Given the description of an element on the screen output the (x, y) to click on. 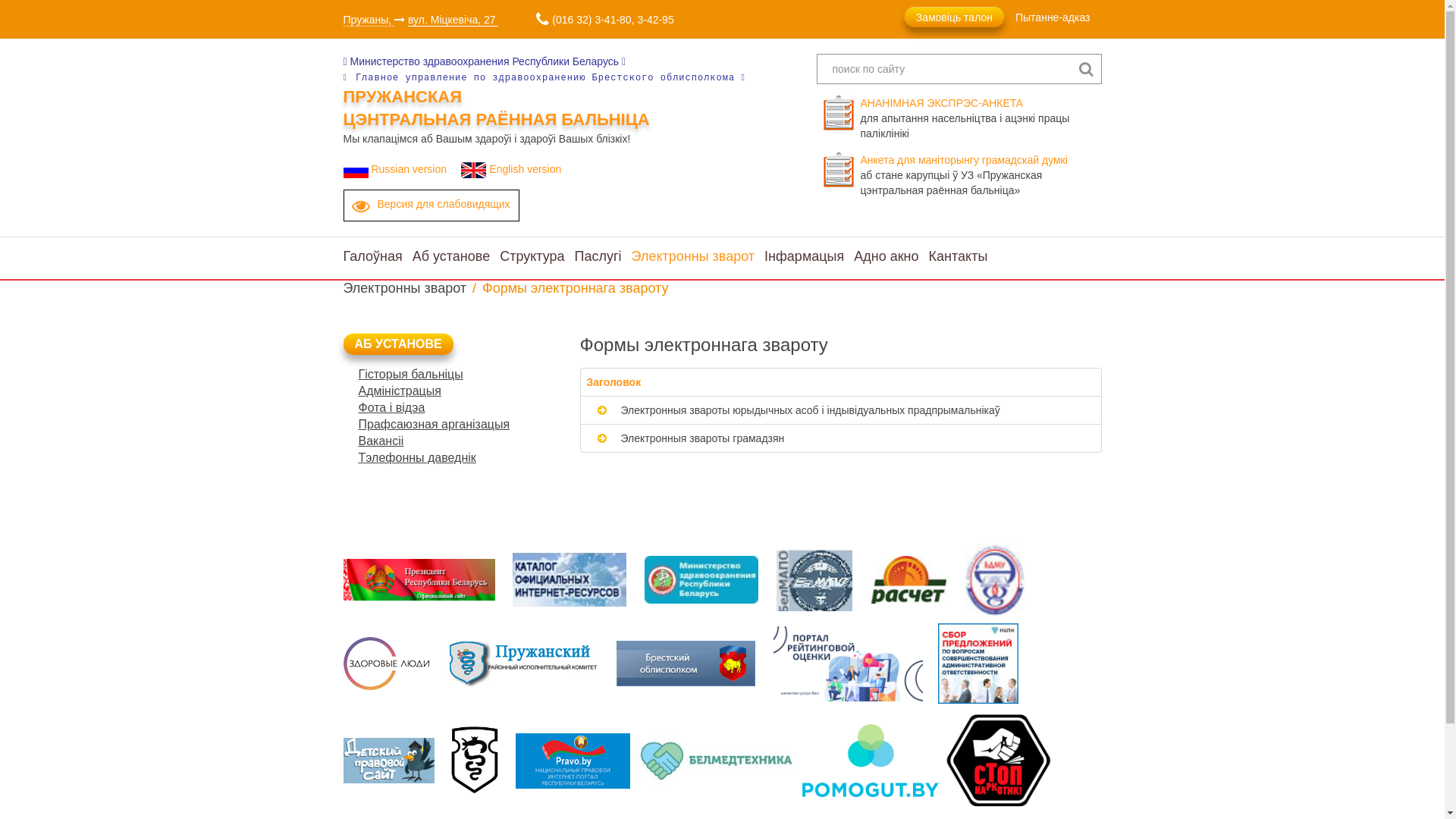
Russian version     Element type: text (400, 169)
English version   Element type: text (514, 169)
